Given the description of an element on the screen output the (x, y) to click on. 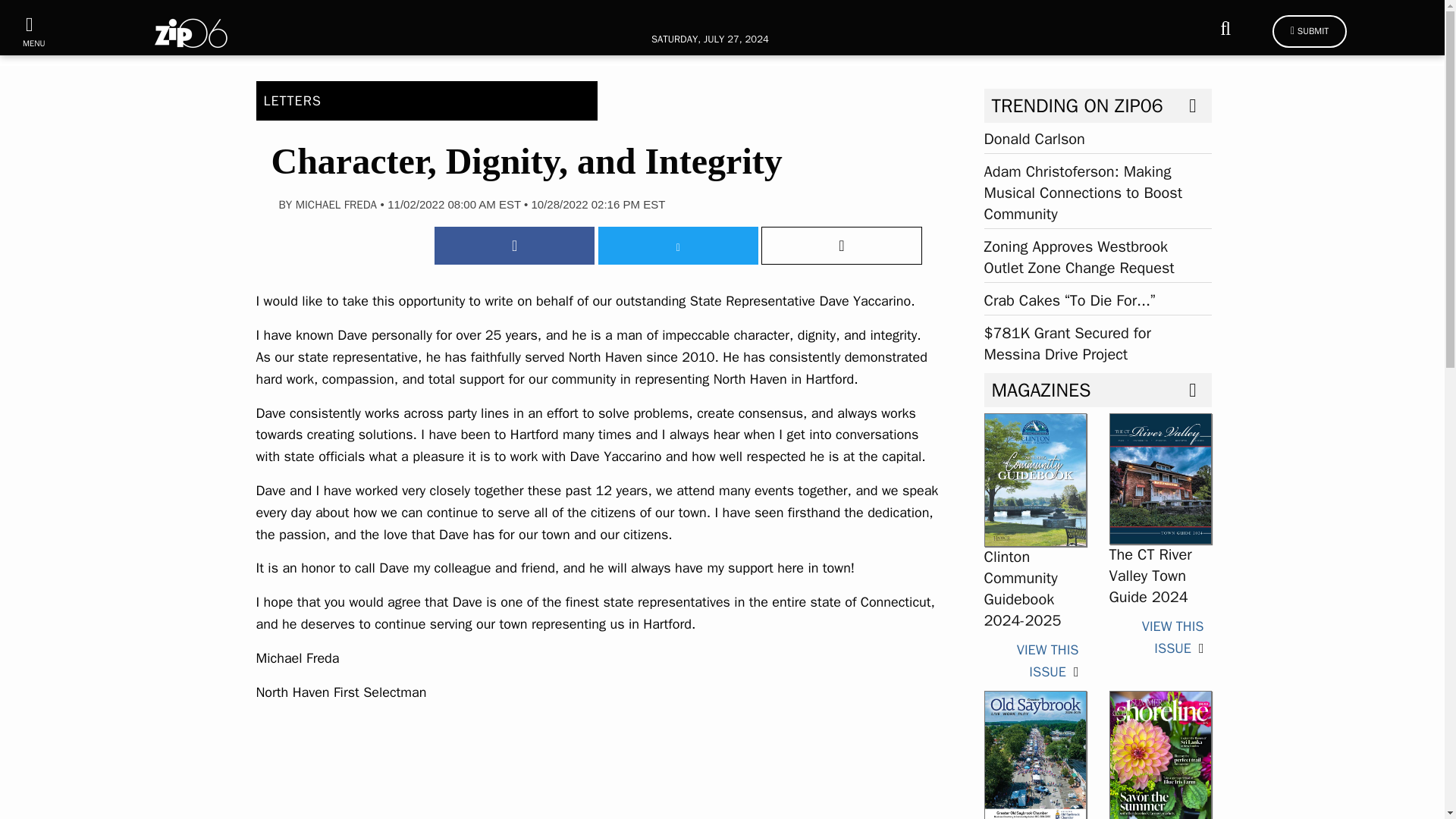
Clinton Community Guidebook 2024-2025 (1035, 478)
Clinton Community Guidebook 2024-2025 (1022, 588)
Old Saybrook 2024 - 2025 (1035, 756)
Summer on the Shoreline (1159, 756)
Clinton Community Guidebook 2024-2025 (1047, 660)
The CT River Valley Town Guide 2024 (1172, 637)
The CT River Valley Town Guide 2024 (1159, 477)
The CT River Valley Town Guide 2024 (1149, 575)
